Given the description of an element on the screen output the (x, y) to click on. 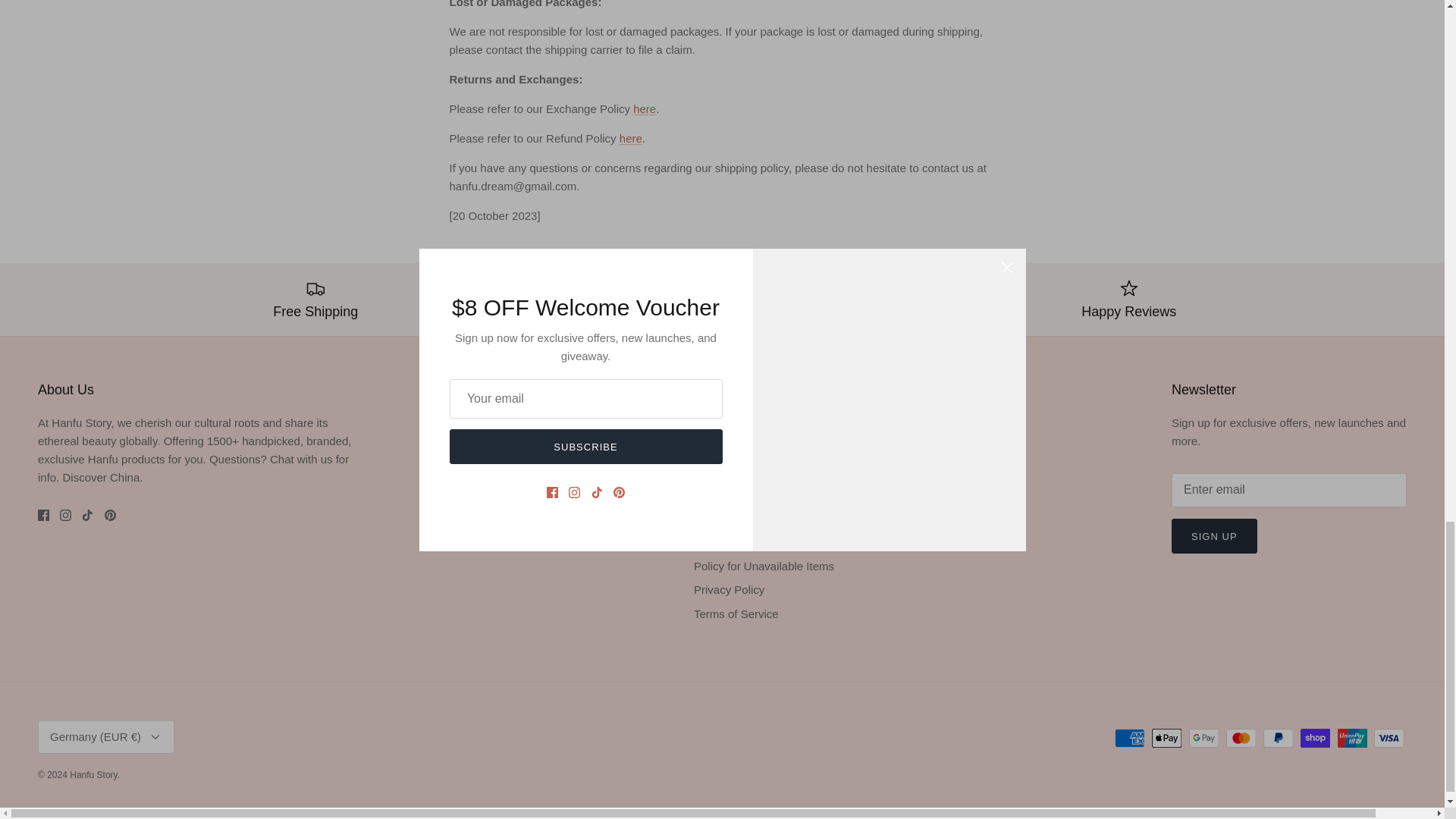
Pinterest (110, 514)
American Express (1129, 737)
PayPal (1277, 737)
Facebook (43, 514)
Google Pay (1203, 737)
Apple Pay (1166, 737)
Instagram (65, 514)
Mastercard (1240, 737)
